Given the description of an element on the screen output the (x, y) to click on. 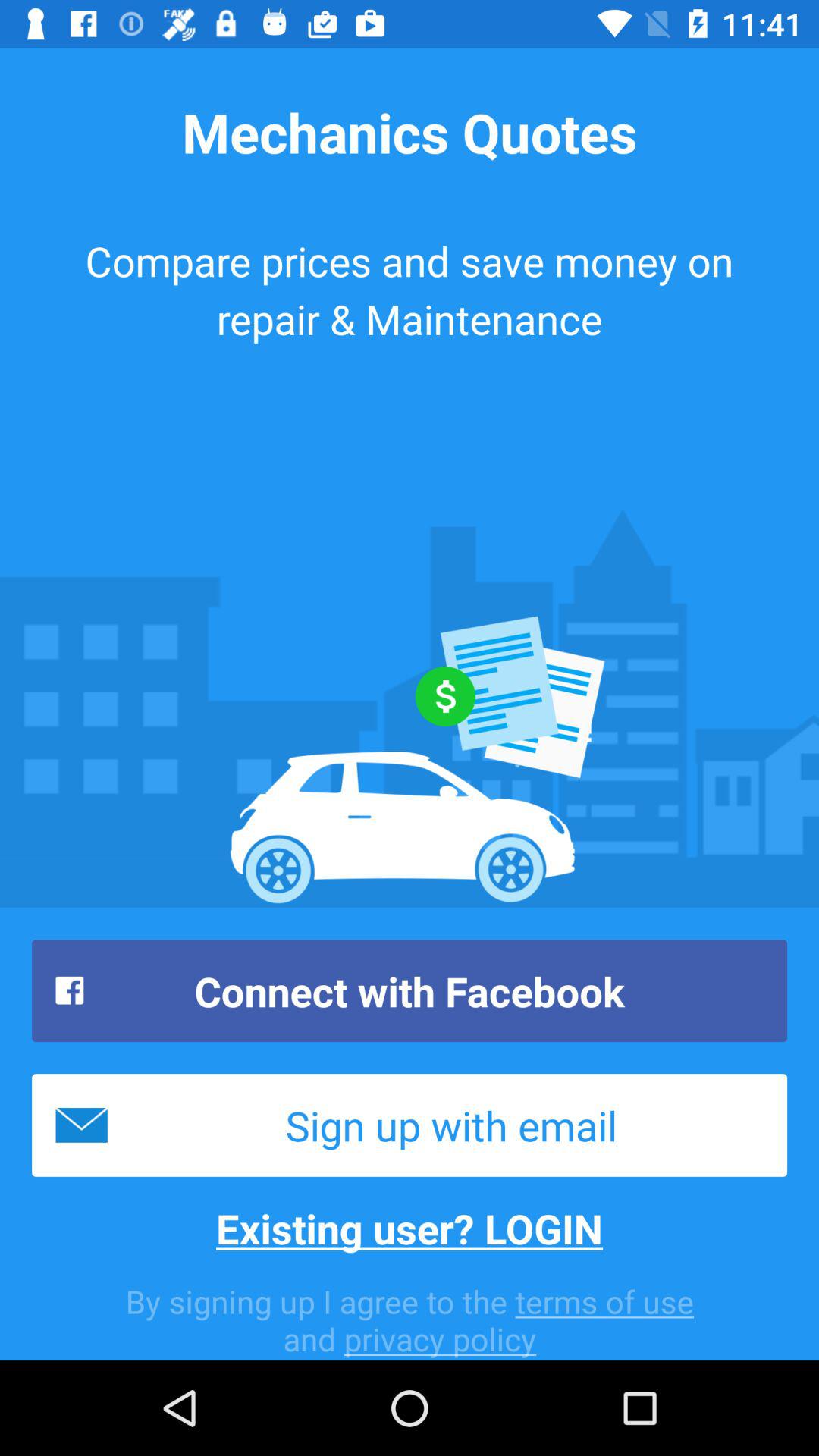
scroll until the sign up with item (409, 1124)
